Given the description of an element on the screen output the (x, y) to click on. 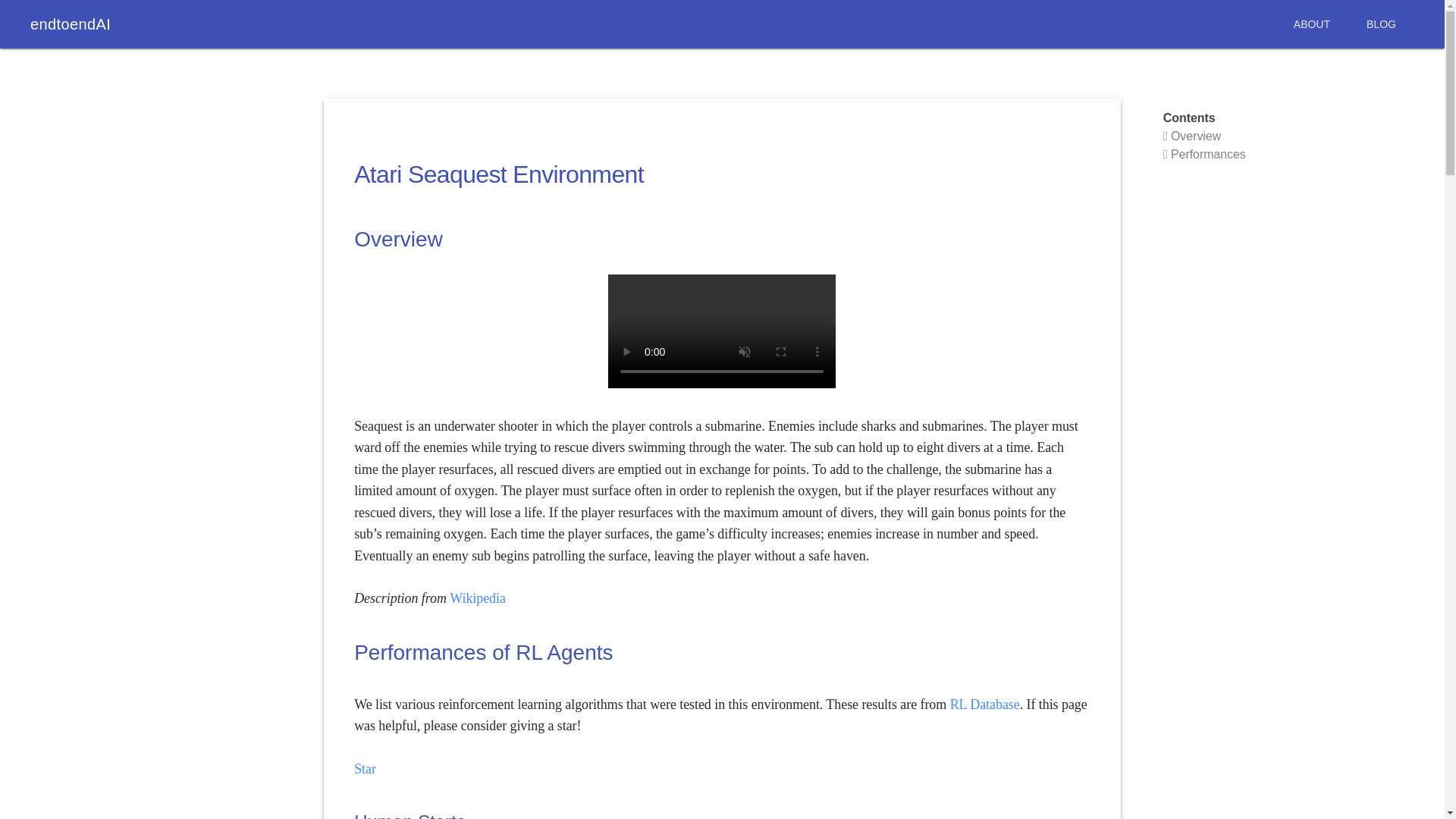
RL Database (985, 703)
Wikipedia (477, 598)
ABOUT (1311, 24)
BLOG (1380, 24)
endtoendAI (70, 23)
Star (364, 768)
